Given the description of an element on the screen output the (x, y) to click on. 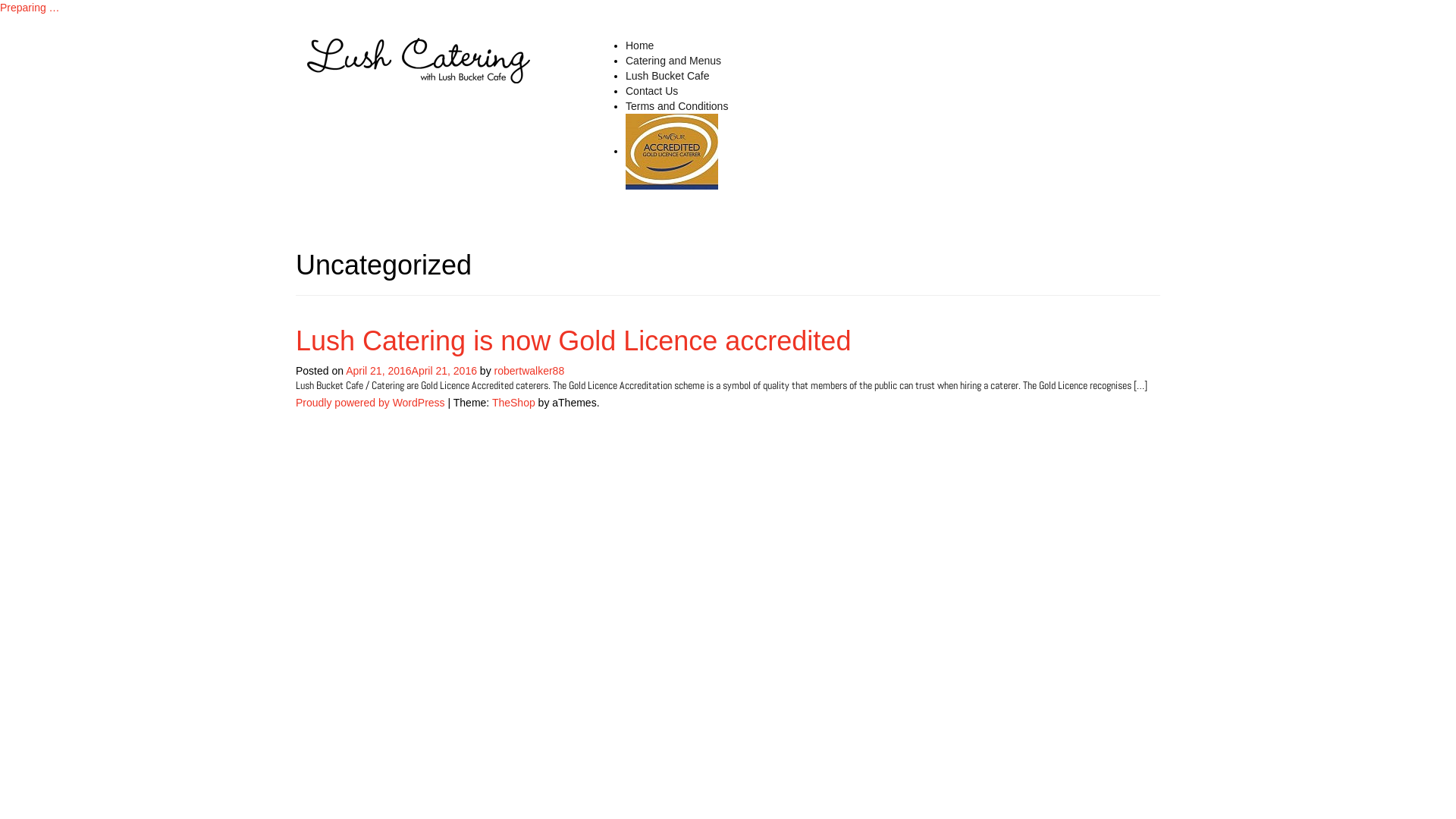
Lush Bucket Cafe Element type: text (667, 75)
TheShop Element type: text (513, 402)
robertwalker88 Element type: text (529, 370)
Lush Catering is now Gold Licence accredited Element type: hover (671, 151)
Lush Catering - with Lush Bucket Cafe Element type: hover (418, 59)
Catering and Menus Element type: text (673, 60)
Lush Catering is now Gold Licence accredited Element type: text (572, 340)
Proudly powered by WordPress Element type: text (370, 402)
Contact Us Element type: text (651, 90)
Home Element type: text (639, 45)
April 21, 2016April 21, 2016 Element type: text (410, 370)
Terms and Conditions Element type: text (676, 106)
